Given the description of an element on the screen output the (x, y) to click on. 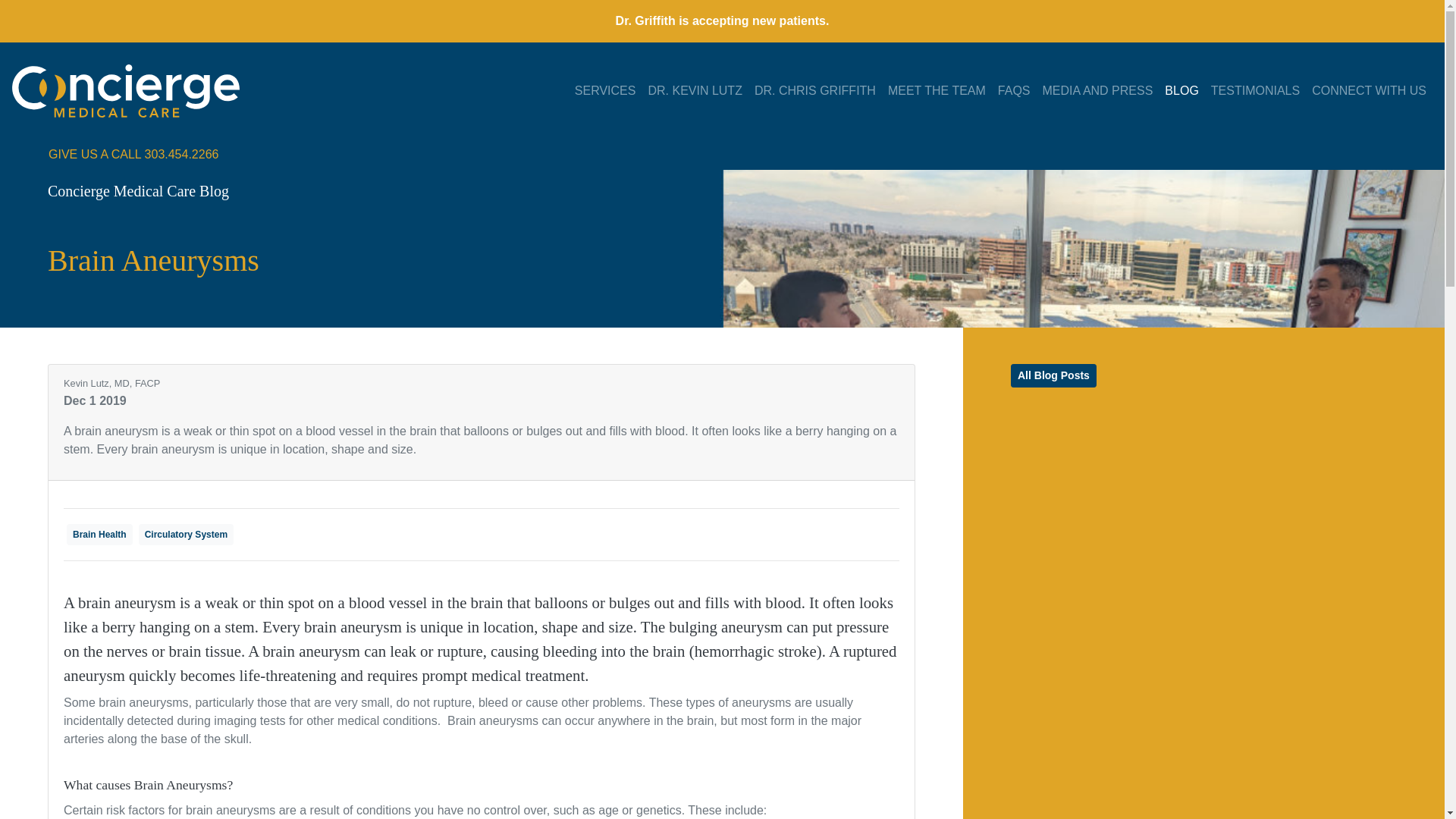
CONNECT WITH US (1369, 91)
All Blog Posts (1053, 375)
DR. KEVIN LUTZ (695, 91)
BLOG (1181, 91)
GIVE US A CALL 303.454.2266 (133, 154)
DR. CHRIS GRIFFITH (815, 91)
MEET THE TEAM (936, 91)
Circulatory System (185, 534)
FAQS (1013, 91)
SERVICES (605, 91)
MEDIA AND PRESS (1097, 91)
Brain Health (99, 534)
TESTIMONIALS (1255, 91)
